Given the description of an element on the screen output the (x, y) to click on. 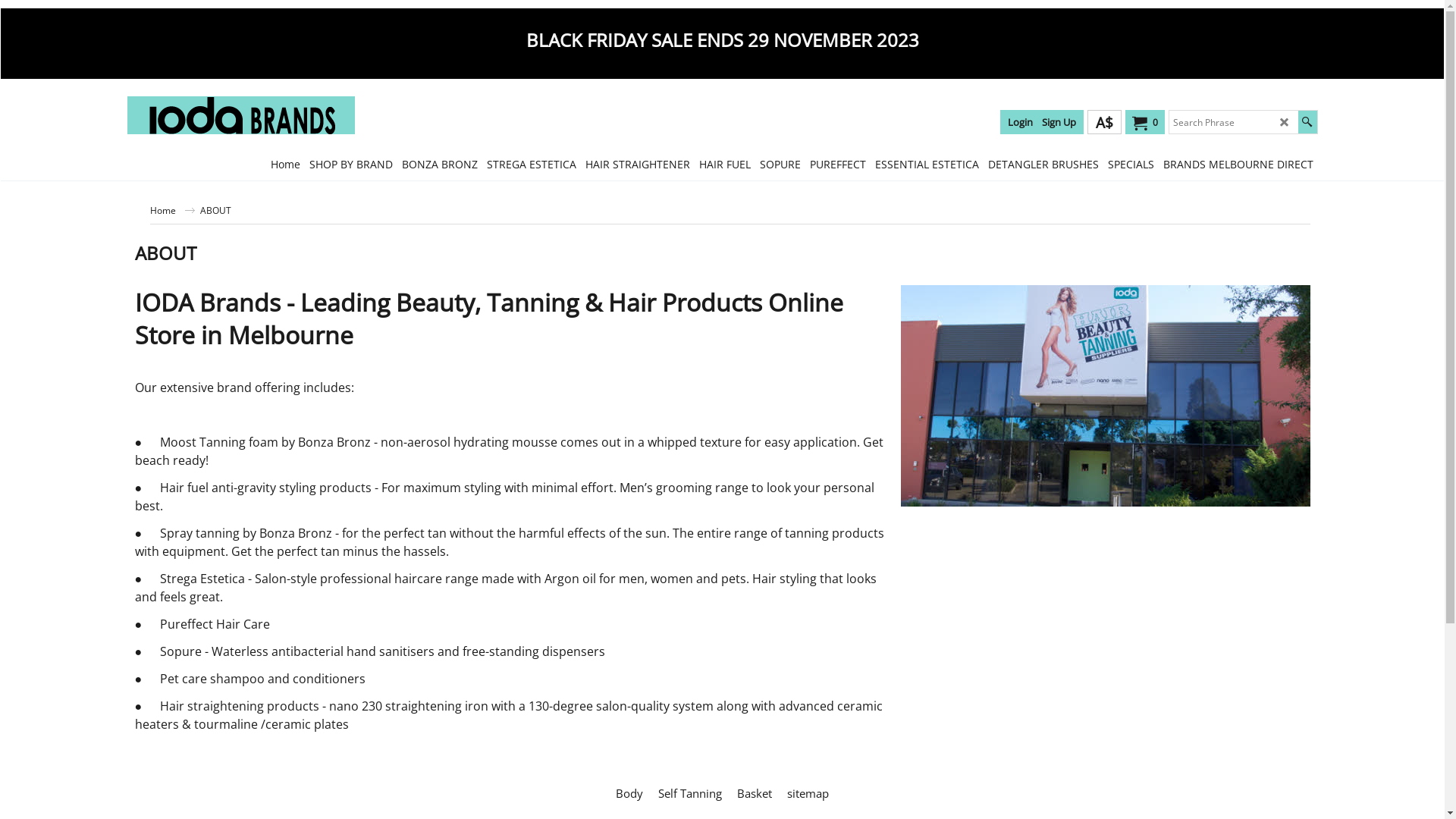
ESSENTIAL ESTETICA Element type: text (926, 163)
HAIR STRAIGHTENER Element type: text (637, 163)
sitemap Element type: text (807, 793)
Body Element type: text (629, 793)
STREGA ESTETICA Element type: text (531, 163)
Login Element type: text (1019, 121)
SOPURE Element type: text (780, 163)
BRANDS MELBOURNE DIRECT Element type: text (1237, 163)
BONZA BRONZ Element type: text (439, 163)
Find Element type: hover (1307, 121)
PUREFFECT Element type: text (837, 163)
Home Element type: text (284, 163)
Home Element type: text (172, 209)
A$ Element type: text (1104, 121)
LD_CANCEL Element type: hover (1284, 122)
HAIR FUEL Element type: text (724, 163)
SHOP BY BRAND Element type: text (350, 163)
Self Tanning Element type: text (689, 793)
SPECIALS Element type: text (1129, 163)
0 Element type: text (1141, 122)
Sign Up Element type: text (1058, 121)
Basket Element type: text (754, 793)
DETANGLER BRUSHES Element type: text (1042, 163)
